Given the description of an element on the screen output the (x, y) to click on. 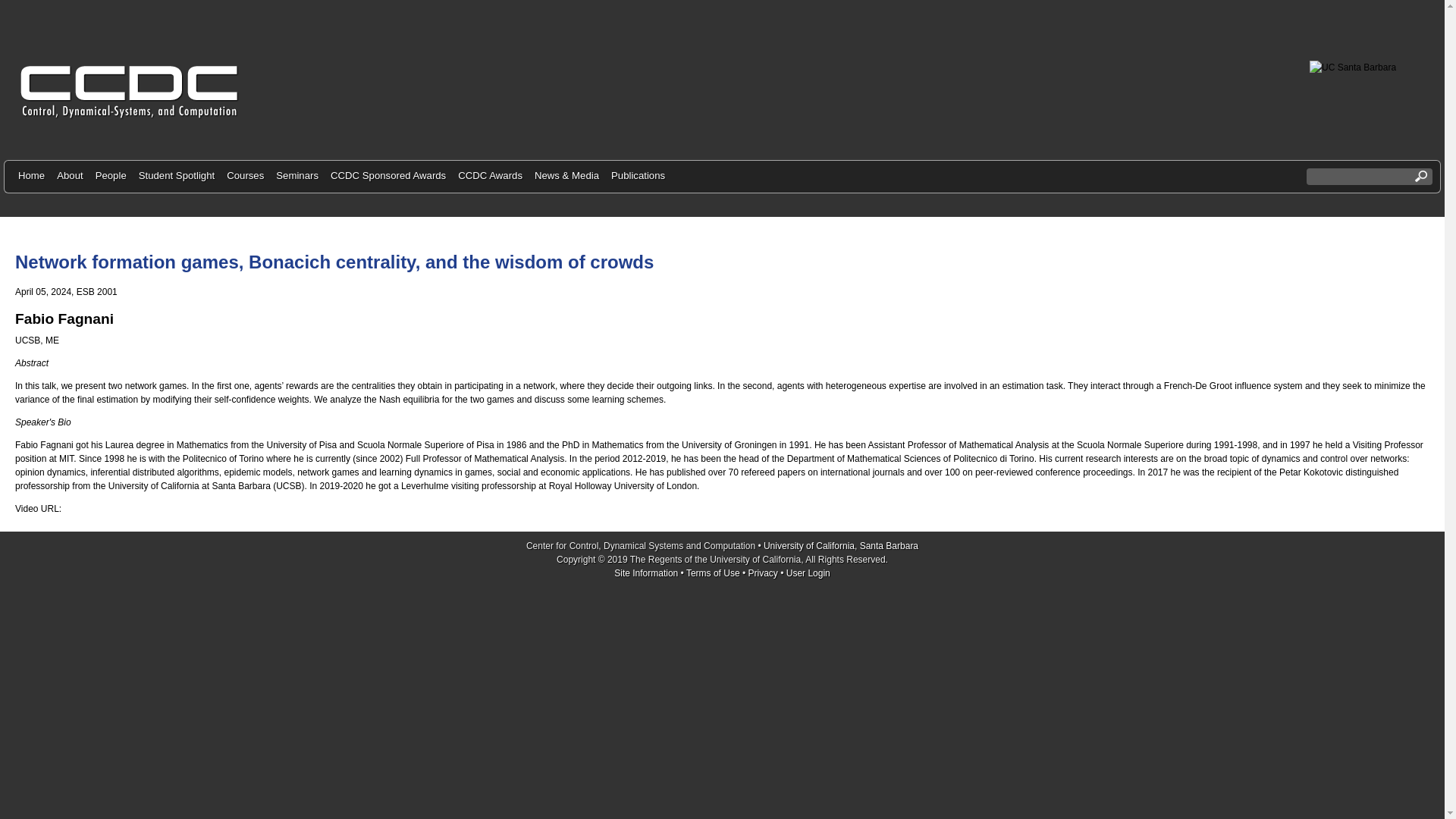
Site Information (646, 573)
About (69, 175)
Terms of Use (712, 573)
Courses (245, 175)
Student Spotlight (176, 175)
Privacy (762, 573)
User Login (807, 573)
Seminars (296, 175)
University of California, Santa Barbara (840, 545)
Publications (638, 175)
People (110, 175)
CCDC Sponsored Awards (387, 175)
CCDC Awards (489, 175)
